Given the description of an element on the screen output the (x, y) to click on. 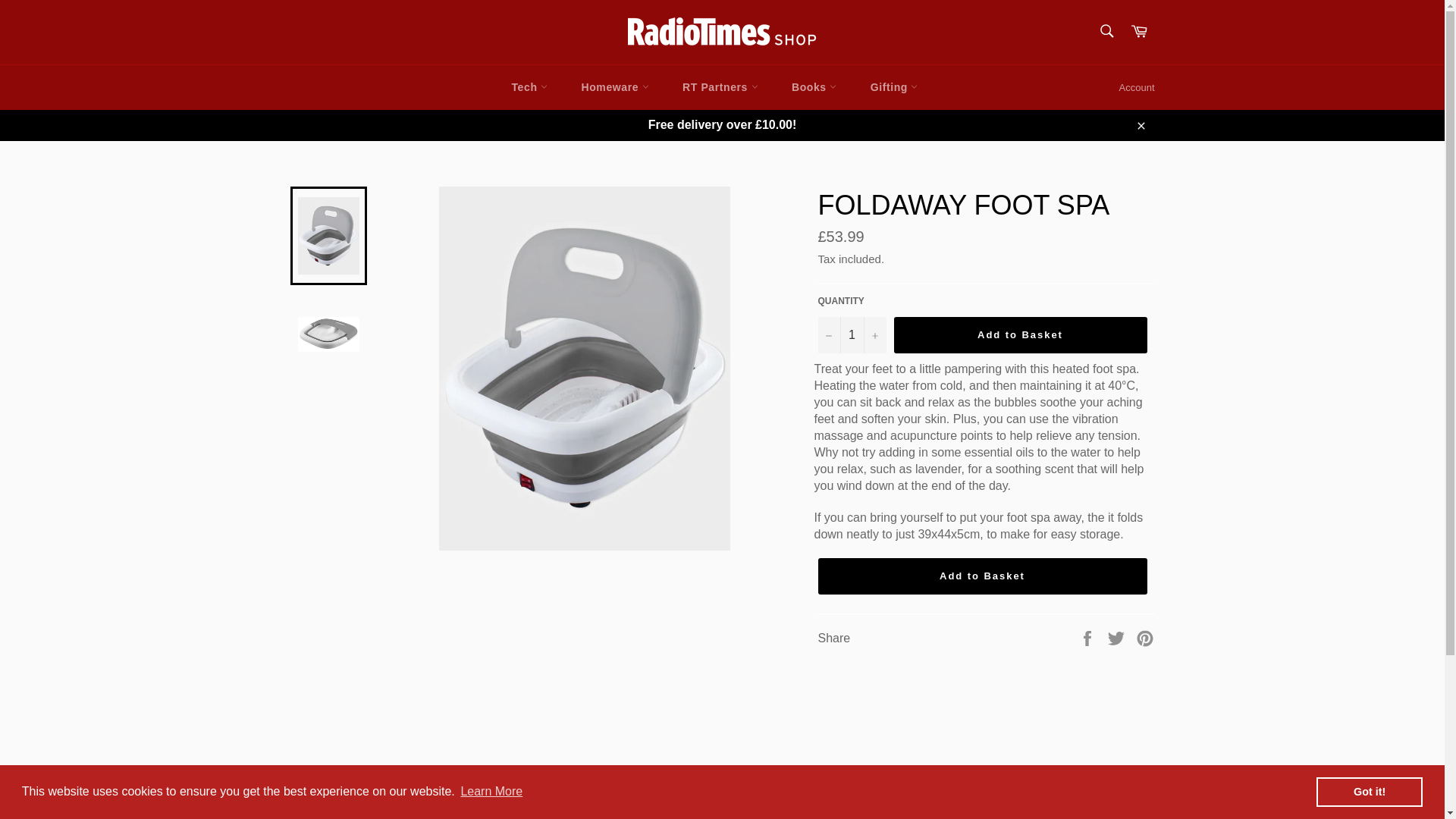
Learn More (491, 791)
1 (850, 334)
Pin on Pinterest (1144, 637)
Got it! (1369, 791)
Share on Facebook (1088, 637)
Tweet on Twitter (1117, 637)
